Given the description of an element on the screen output the (x, y) to click on. 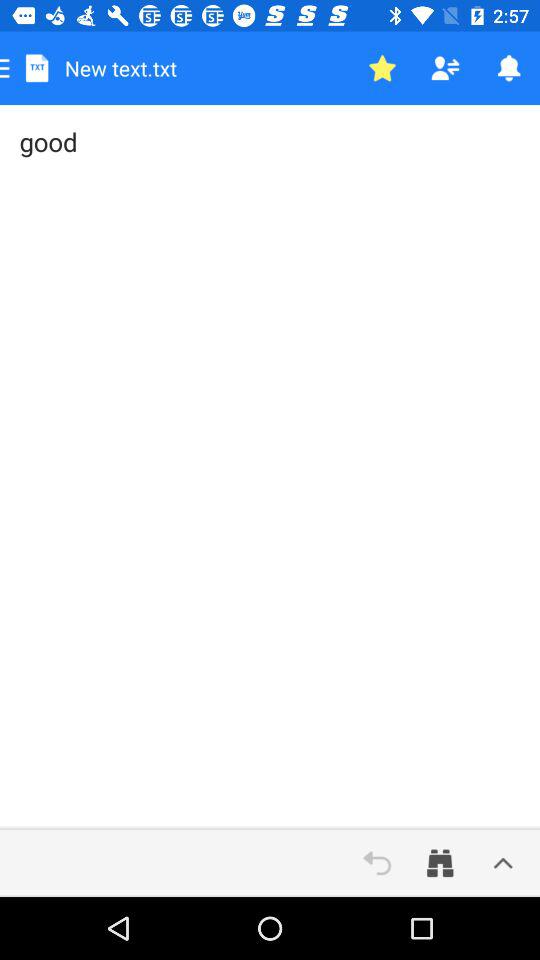
add to favorite (382, 68)
